Given the description of an element on the screen output the (x, y) to click on. 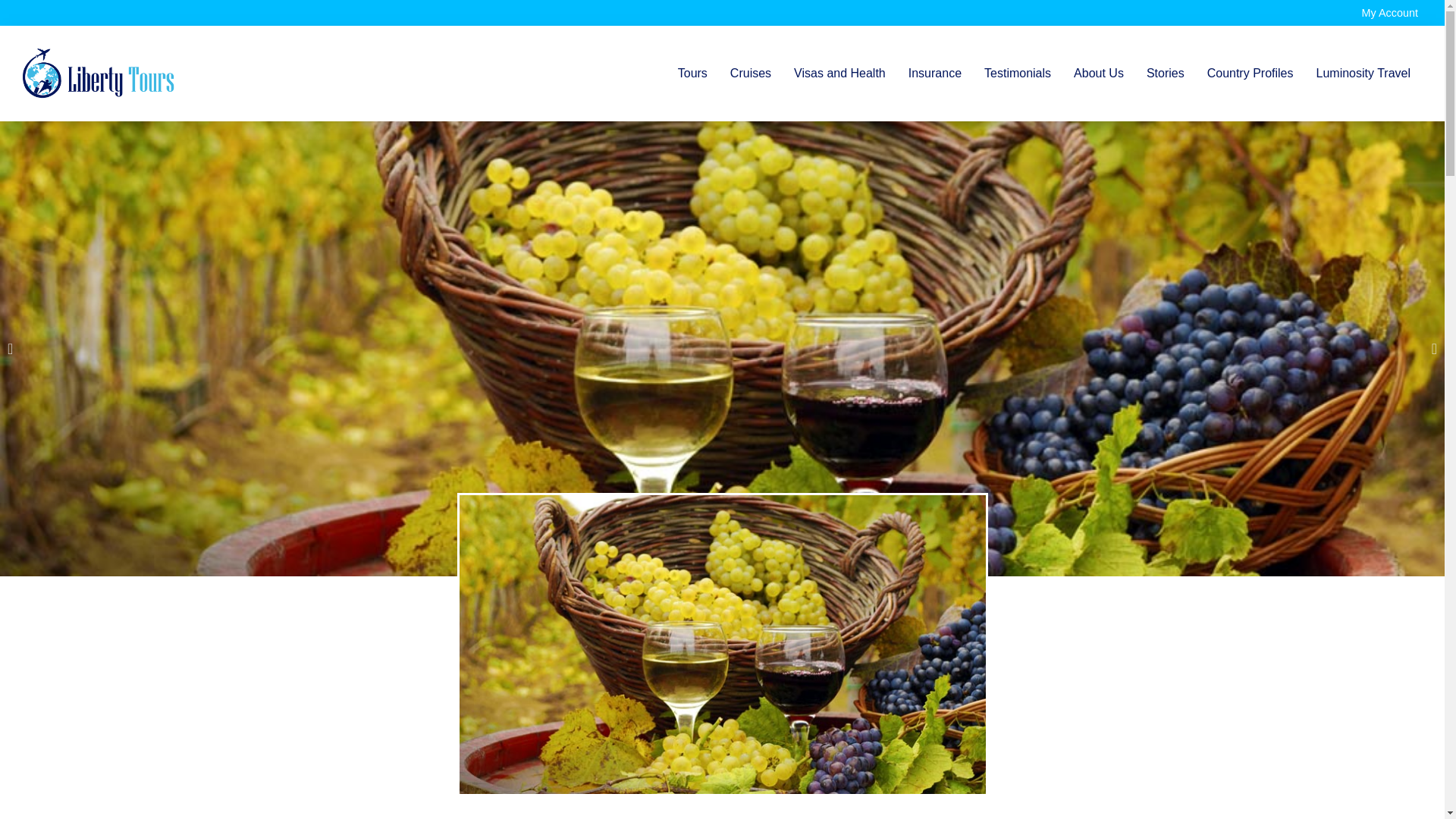
Cruises (751, 73)
My Account (1389, 12)
Country Profiles (1249, 73)
Testimonials (1017, 73)
Luminosity Travel (1363, 73)
About Us (1098, 73)
Stories (1165, 73)
Visas and Health (839, 73)
Insurance (934, 73)
Tours (692, 73)
